Given the description of an element on the screen output the (x, y) to click on. 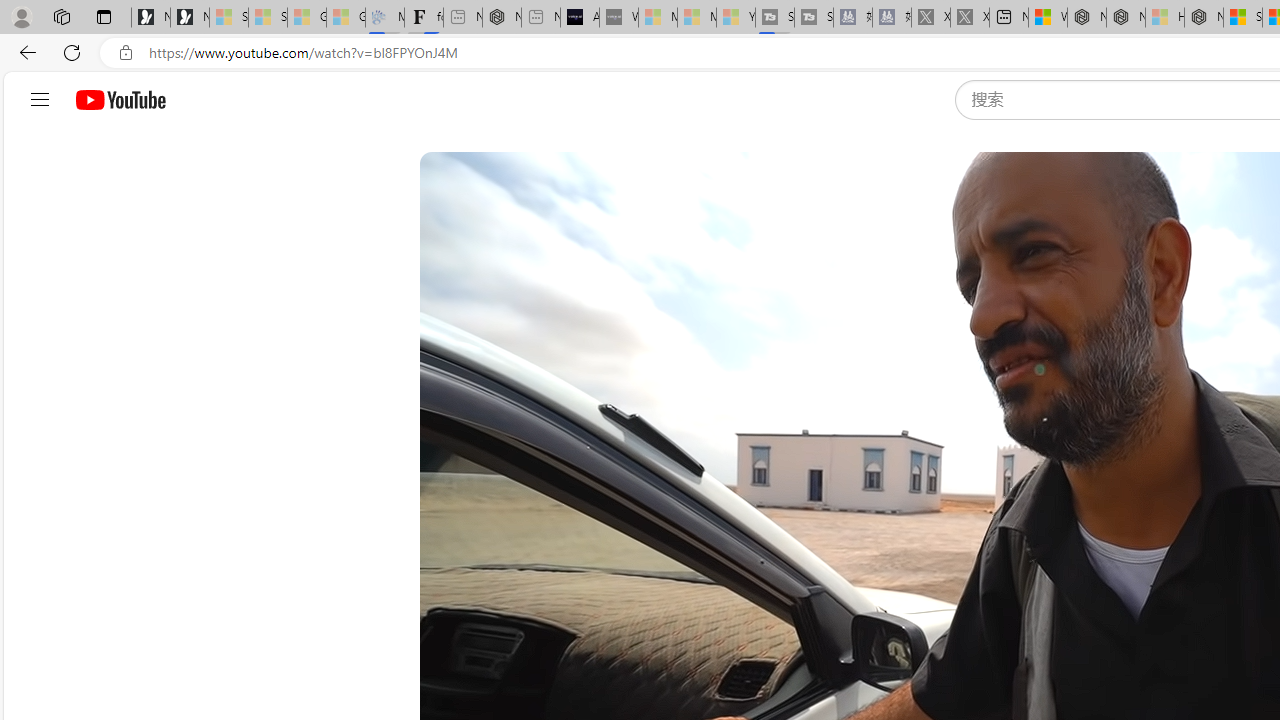
Microsoft Start Sports - Sleeping (657, 17)
X - Sleeping (970, 17)
Nordace - Nordace Siena Is Not An Ordinary Backpack (1203, 17)
Microsoft Start - Sleeping (696, 17)
